Given the description of an element on the screen output the (x, y) to click on. 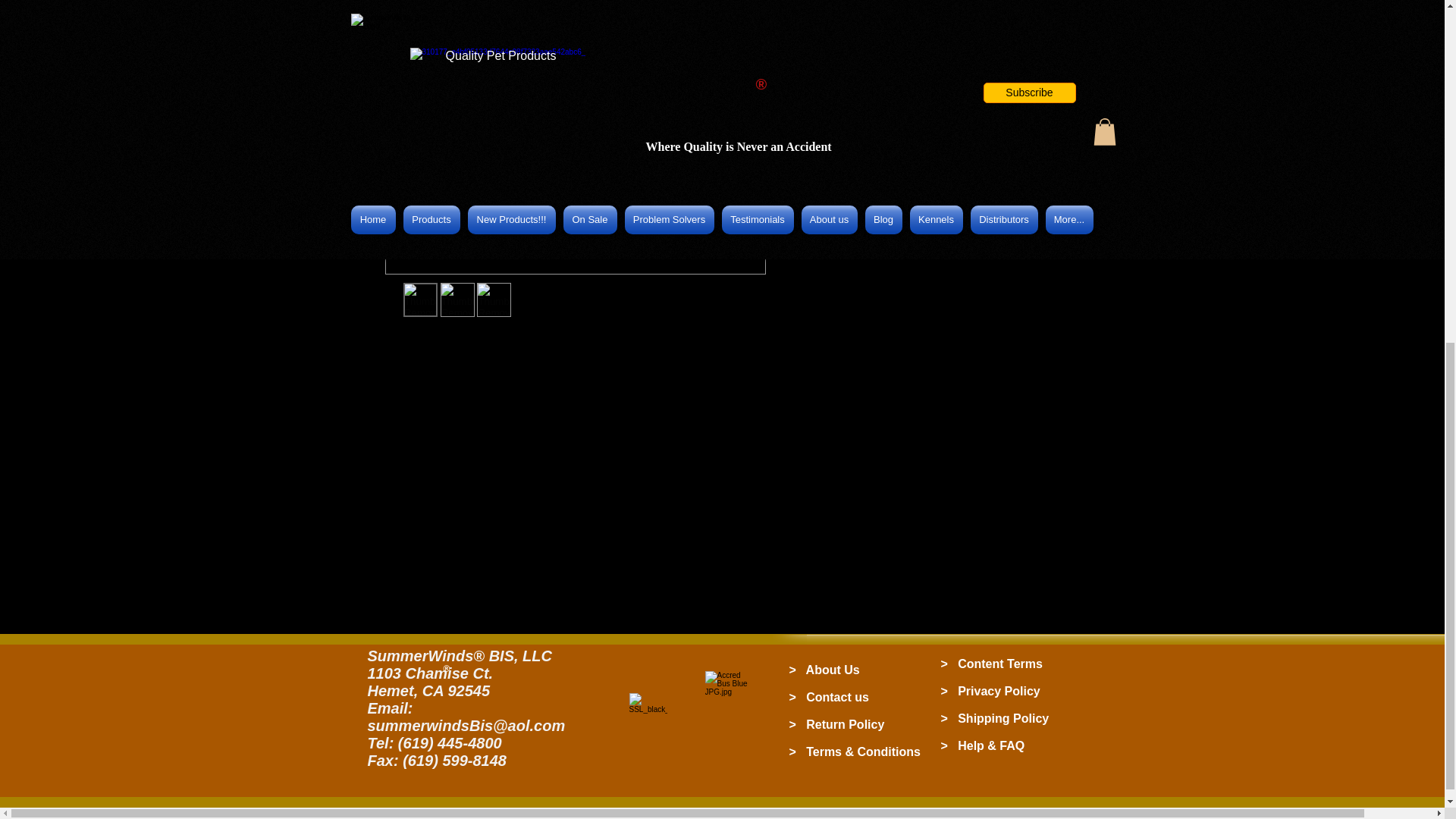
Add to Cart (924, 123)
1 (818, 68)
Gal (924, 8)
